Given the description of an element on the screen output the (x, y) to click on. 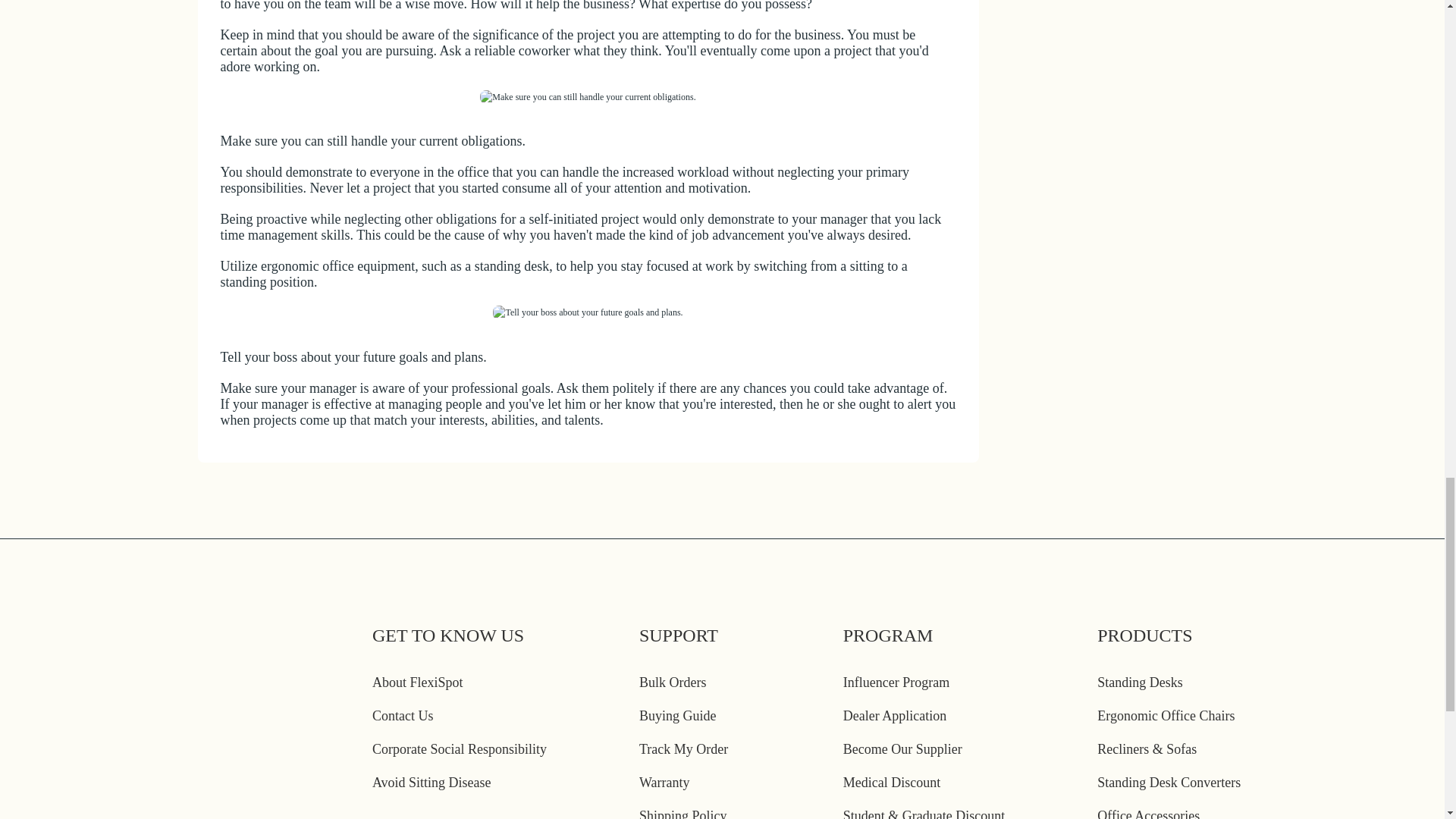
Avoid Sitting Disease (432, 782)
Buying Guide (677, 715)
Office Accessories (1148, 813)
Contact Us (402, 715)
Influencer Program (896, 682)
Standing Desks (1139, 682)
About FlexiSpot (417, 682)
Corporate Social Responsibility (459, 749)
Ergonomic Office Chairs (1165, 715)
Tell your boss about your future goals and plans. (587, 312)
Become Our Supplier (902, 749)
Track My Order (683, 749)
Warranty (664, 782)
Make sure you can still handle your current obligations. (587, 97)
Bulk Orders (672, 682)
